Given the description of an element on the screen output the (x, y) to click on. 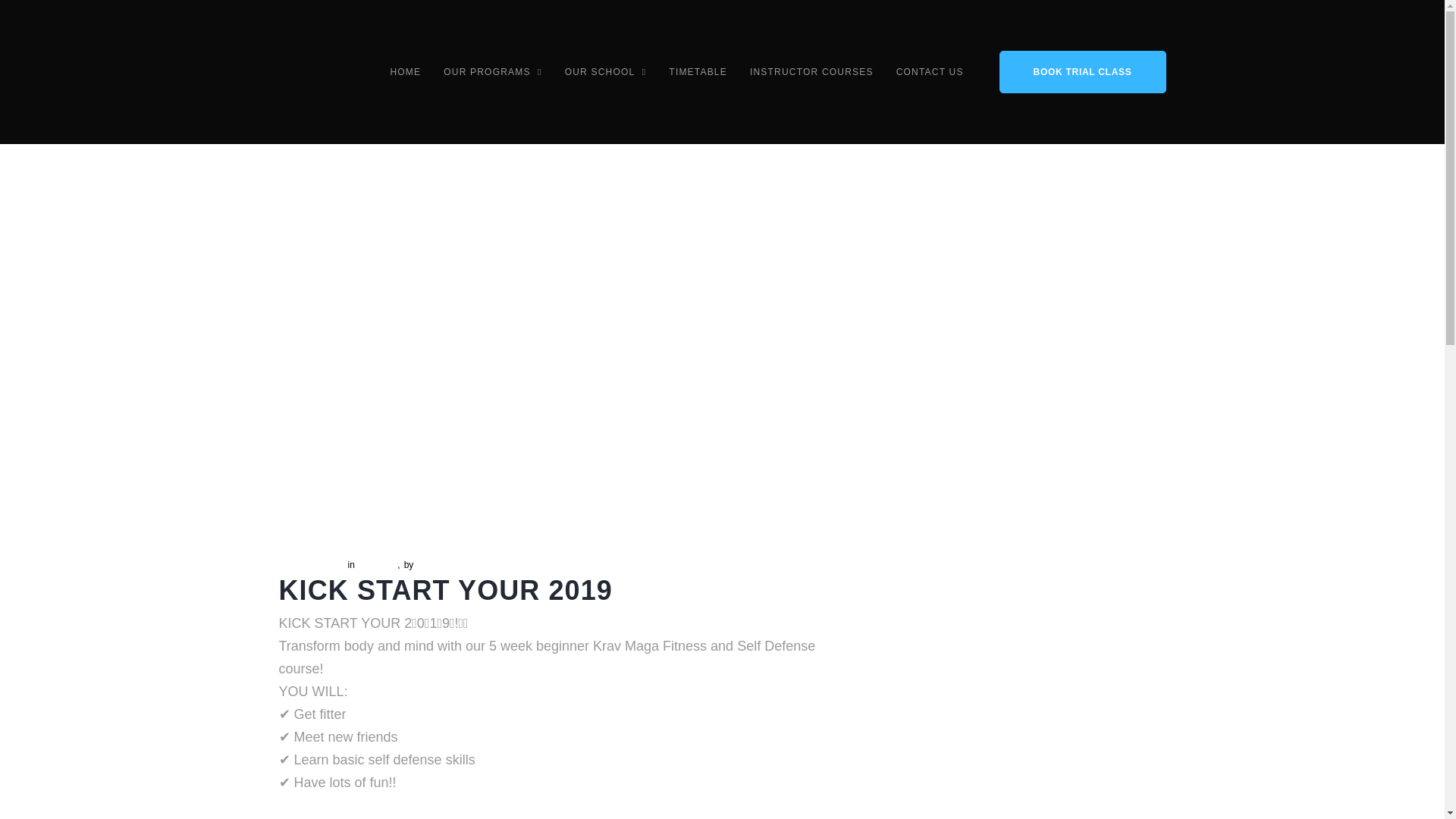
admin (428, 564)
CONTACT US (929, 71)
OUR PROGRAMS (492, 71)
January 2, 2019 (311, 564)
INSTRUCTOR COURSES (811, 71)
Fitness (371, 564)
TIMETABLE (697, 71)
HOME (405, 71)
OUR SCHOOL (605, 71)
BOOK TRIAL CLASS (1082, 71)
